Given the description of an element on the screen output the (x, y) to click on. 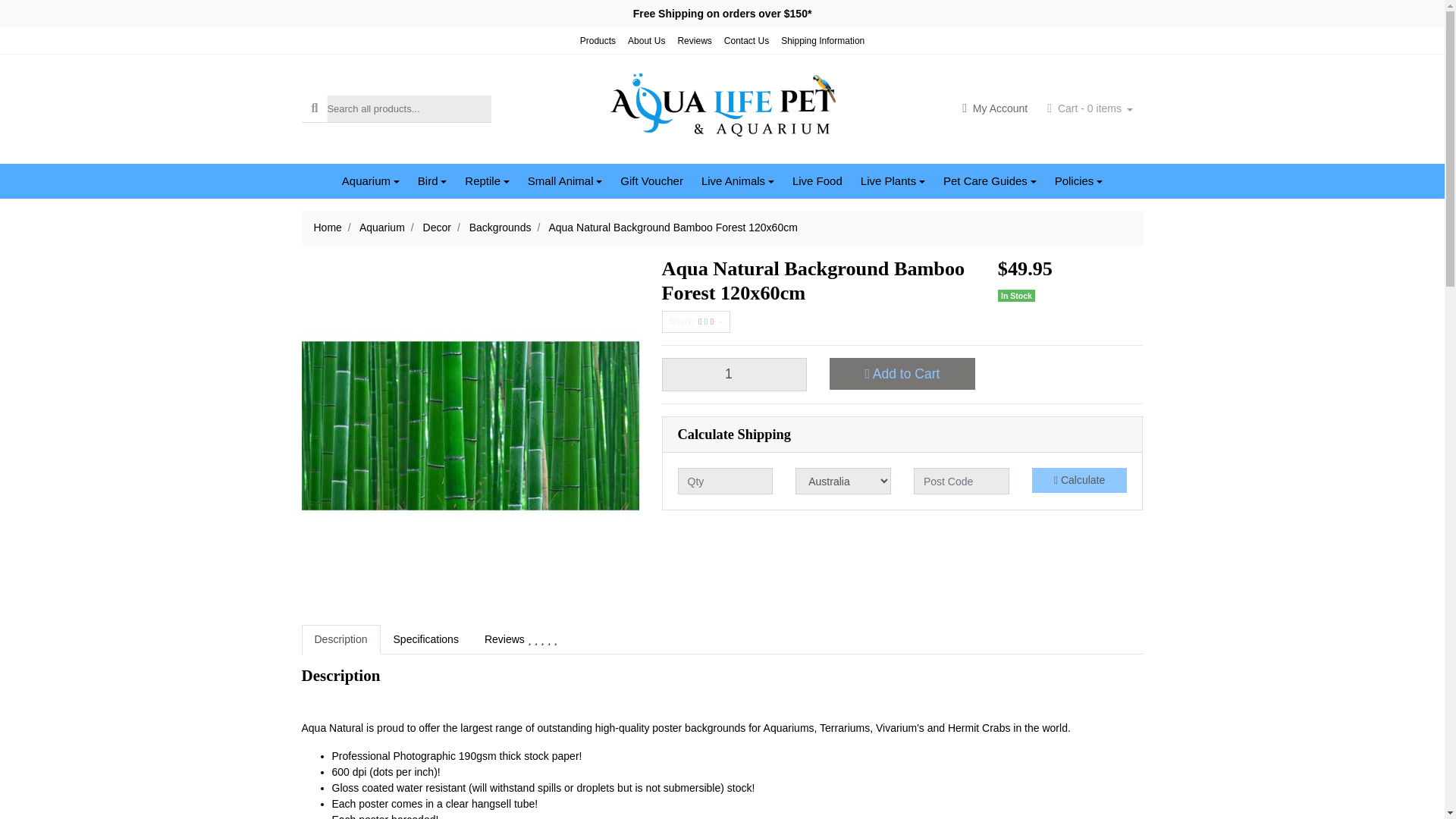
About Us (646, 40)
Aquarium (371, 181)
Reviews (694, 40)
Search (315, 108)
Products (597, 40)
1 (733, 374)
Contact Us (745, 40)
Aqua Life Pet and Aquarium (721, 108)
Shipping Information (822, 40)
Add Aqua Natural Background Bamboo Forest 120x60cm to Cart (902, 373)
